Given the description of an element on the screen output the (x, y) to click on. 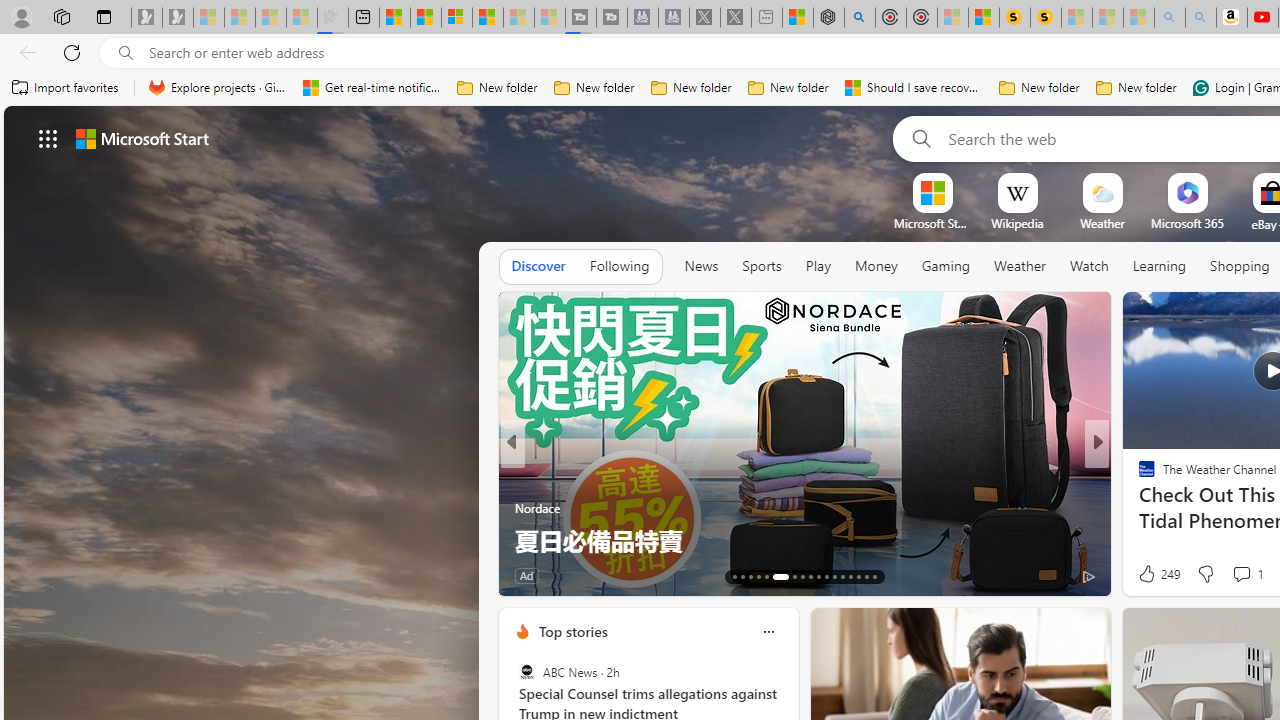
Weather (1019, 267)
AutomationID: tab-20 (801, 576)
AutomationID: tab-29 (874, 576)
View comments 26 Comment (11, 575)
Amazon Echo Dot PNG - Search Images - Sleeping (1200, 17)
View comments 5 Comment (1229, 575)
27 Like (1149, 574)
Learning (1159, 267)
AutomationID: tab-16 (757, 576)
Following (619, 267)
View comments 3 Comment (1234, 575)
Watch (1089, 265)
